Given the description of an element on the screen output the (x, y) to click on. 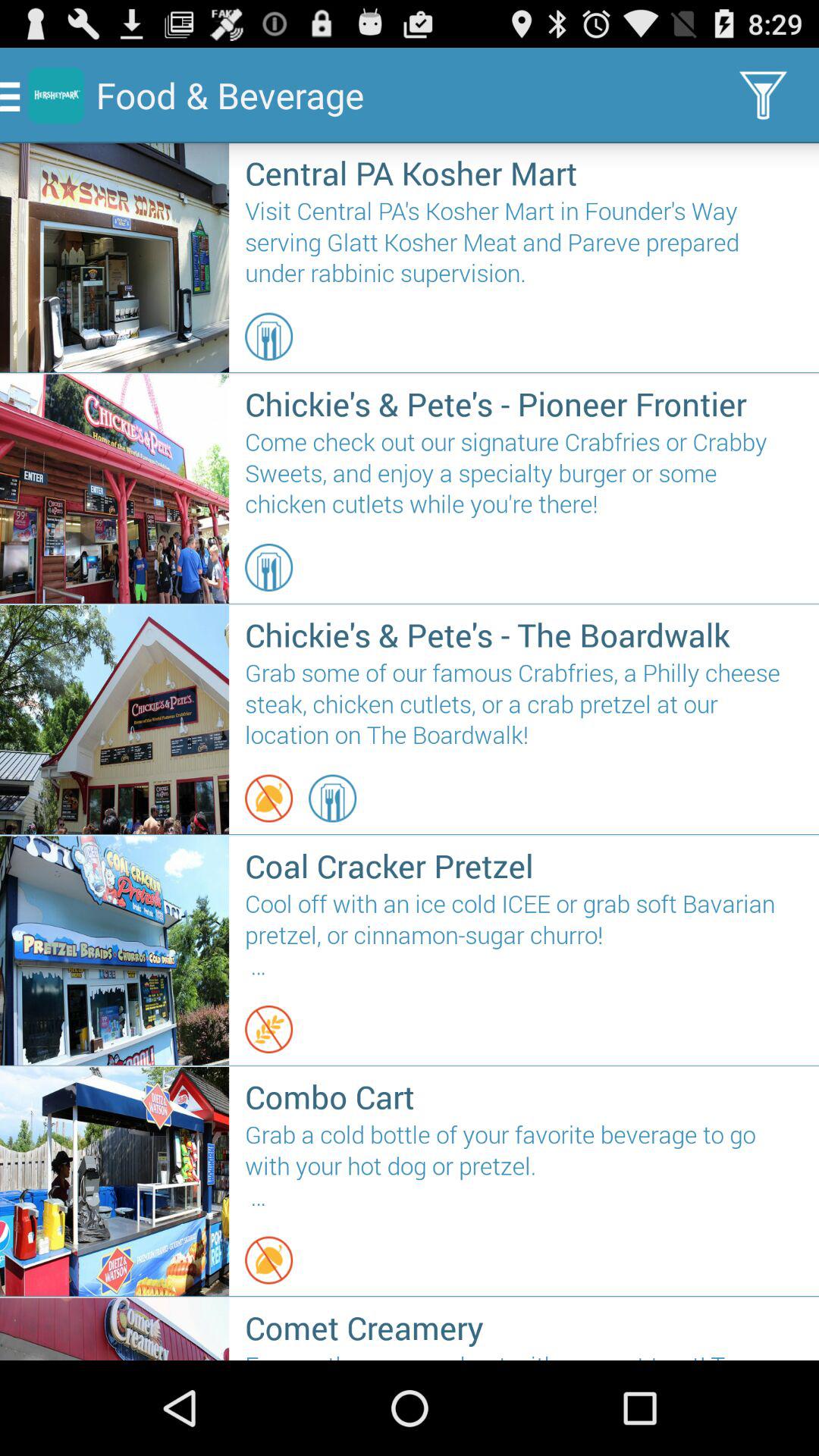
select item at the top right corner (763, 95)
